Given the description of an element on the screen output the (x, y) to click on. 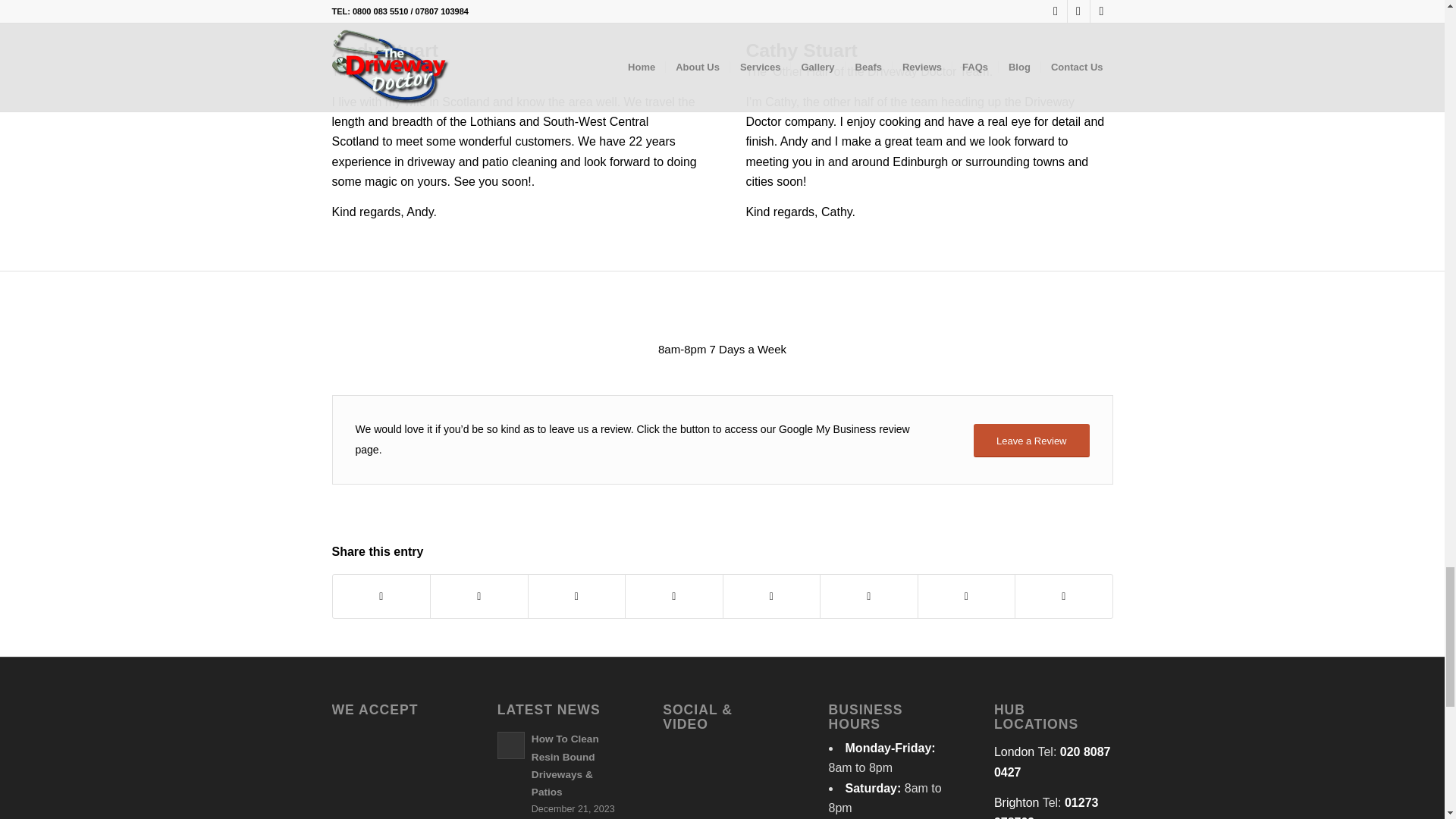
Leave a Review (1031, 440)
